Given the description of an element on the screen output the (x, y) to click on. 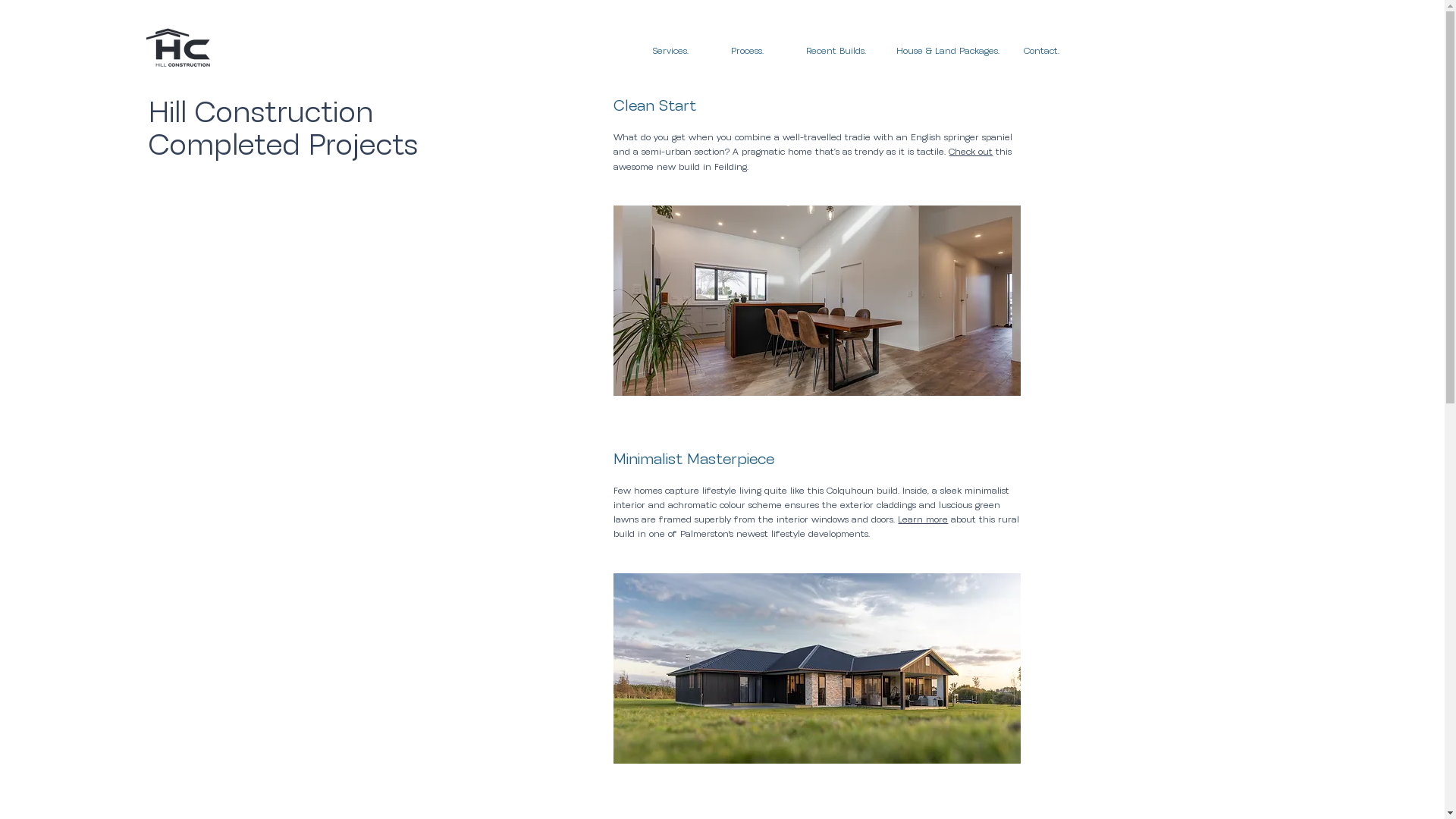
Recent Builds. Element type: text (836, 51)
Learn more Element type: text (922, 519)
Services.  Element type: text (671, 51)
Check out Element type: text (970, 151)
Process. Element type: text (747, 51)
House & Land Packages. Element type: text (947, 51)
Contact. Element type: text (1041, 51)
